Given the description of an element on the screen output the (x, y) to click on. 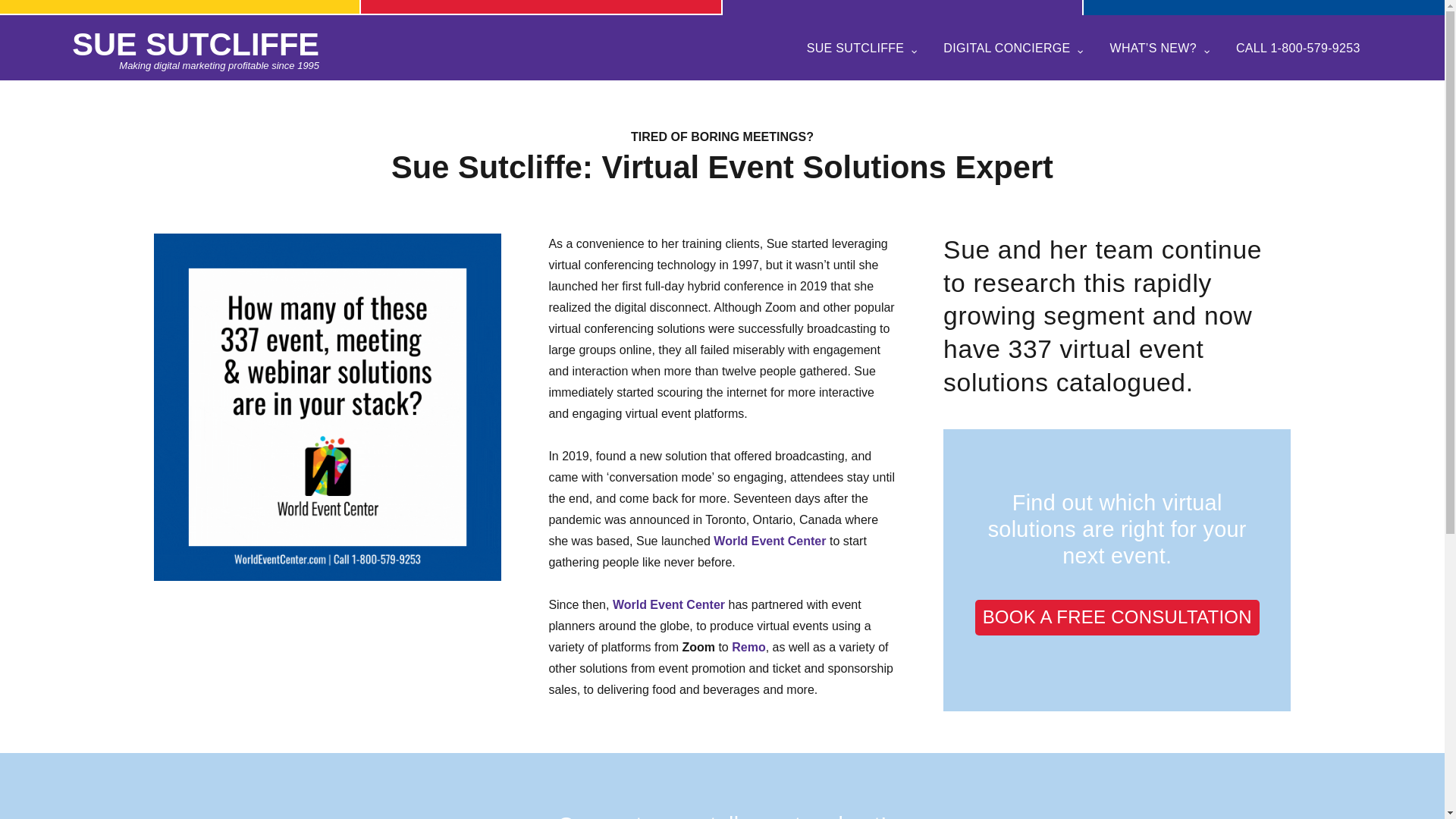
Remo (748, 646)
SUE SUTCLIFFE (863, 47)
SUE SUTCLIFFE (194, 44)
CALL 1-800-579-9253 (1297, 47)
World Event Center (769, 540)
World Event Center (668, 604)
DIGITAL CONCIERGE (1013, 47)
